Given the description of an element on the screen output the (x, y) to click on. 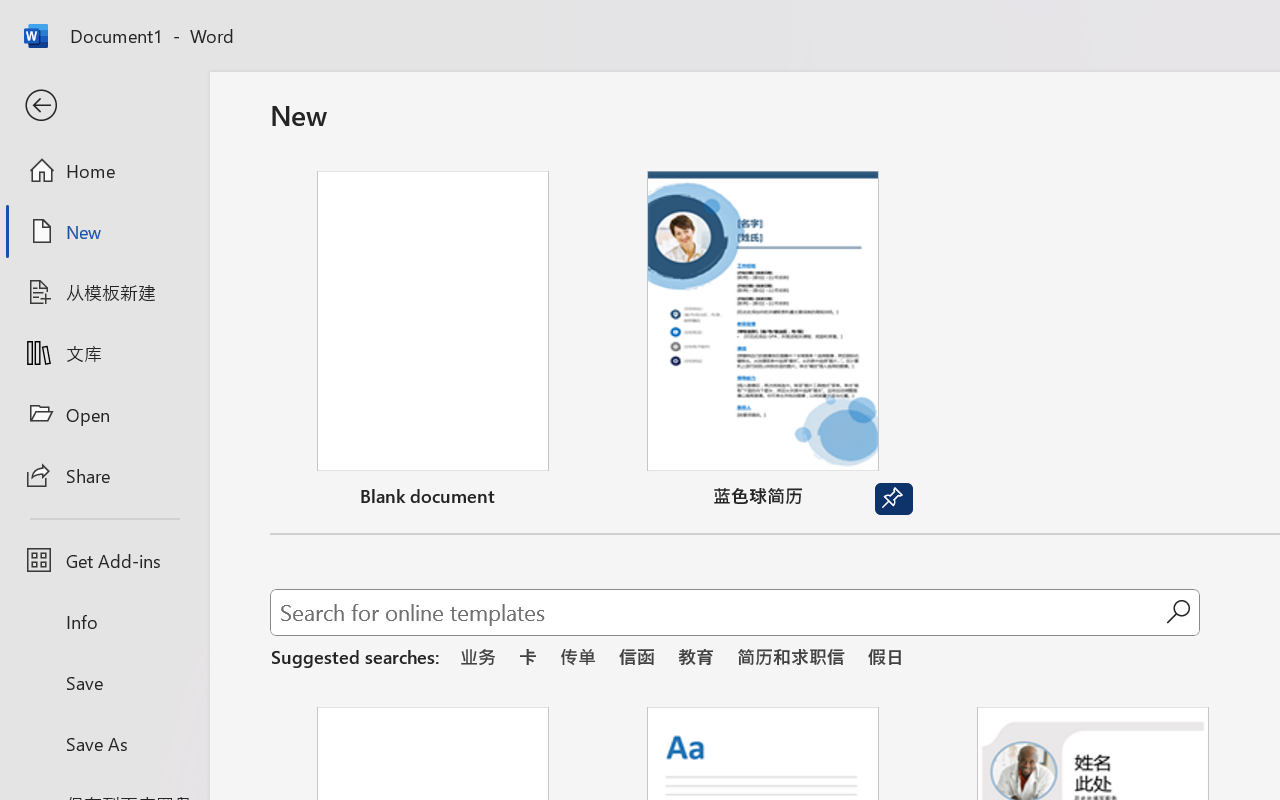
Save As (104, 743)
Info (104, 621)
Search for online templates (718, 615)
Start searching (1178, 612)
